Given the description of an element on the screen output the (x, y) to click on. 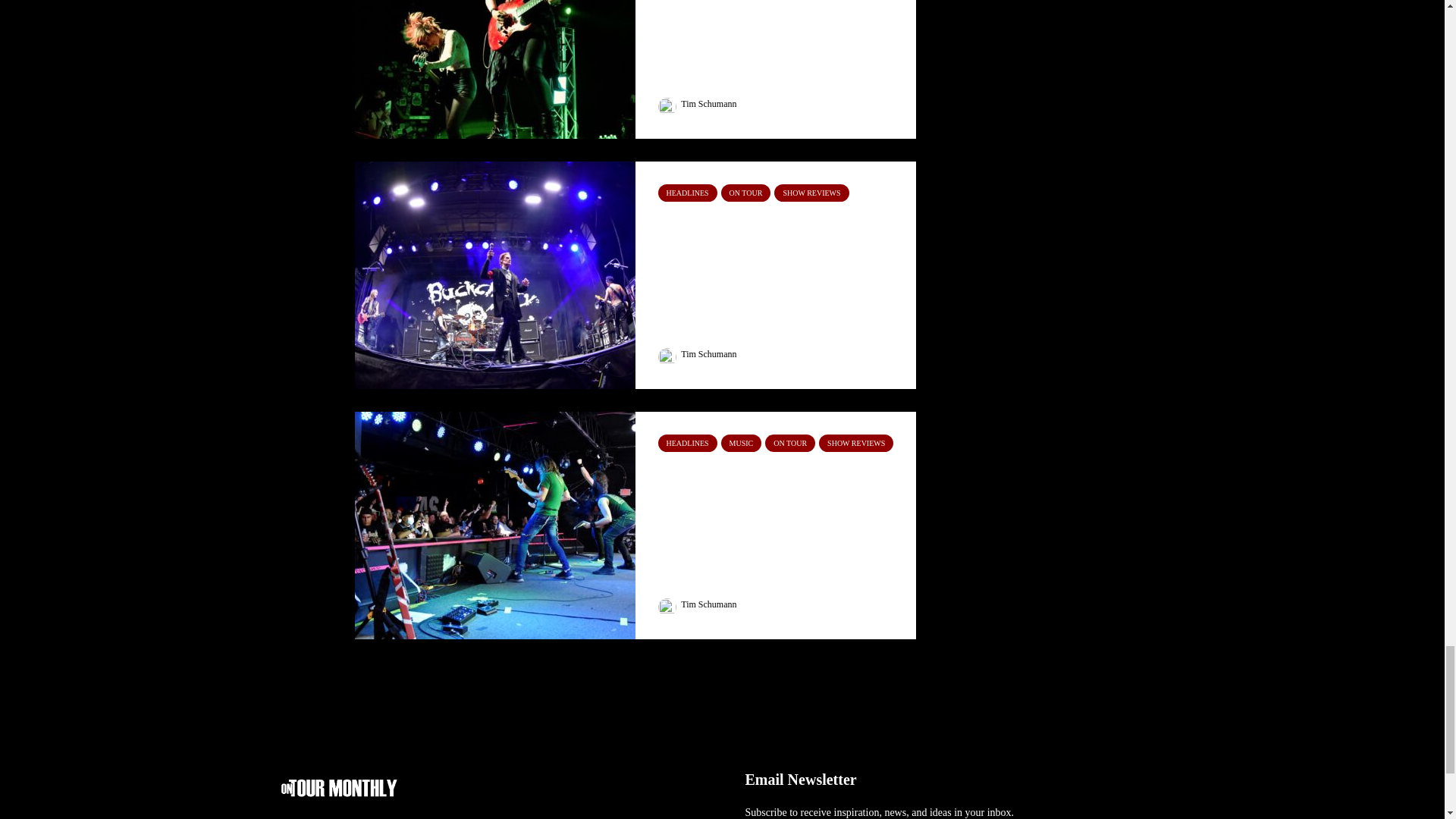
Eyes Set to Kill makes their return to the Borderland (494, 23)
Buckcherry makes its return to Speaking Rock (494, 273)
HEADLINES (687, 192)
Eyes Set to Kill makes their return to the Borderland (778, 5)
Kings of Thrash drop into the Rockhouse (494, 523)
Tim Schumann (697, 103)
